Given the description of an element on the screen output the (x, y) to click on. 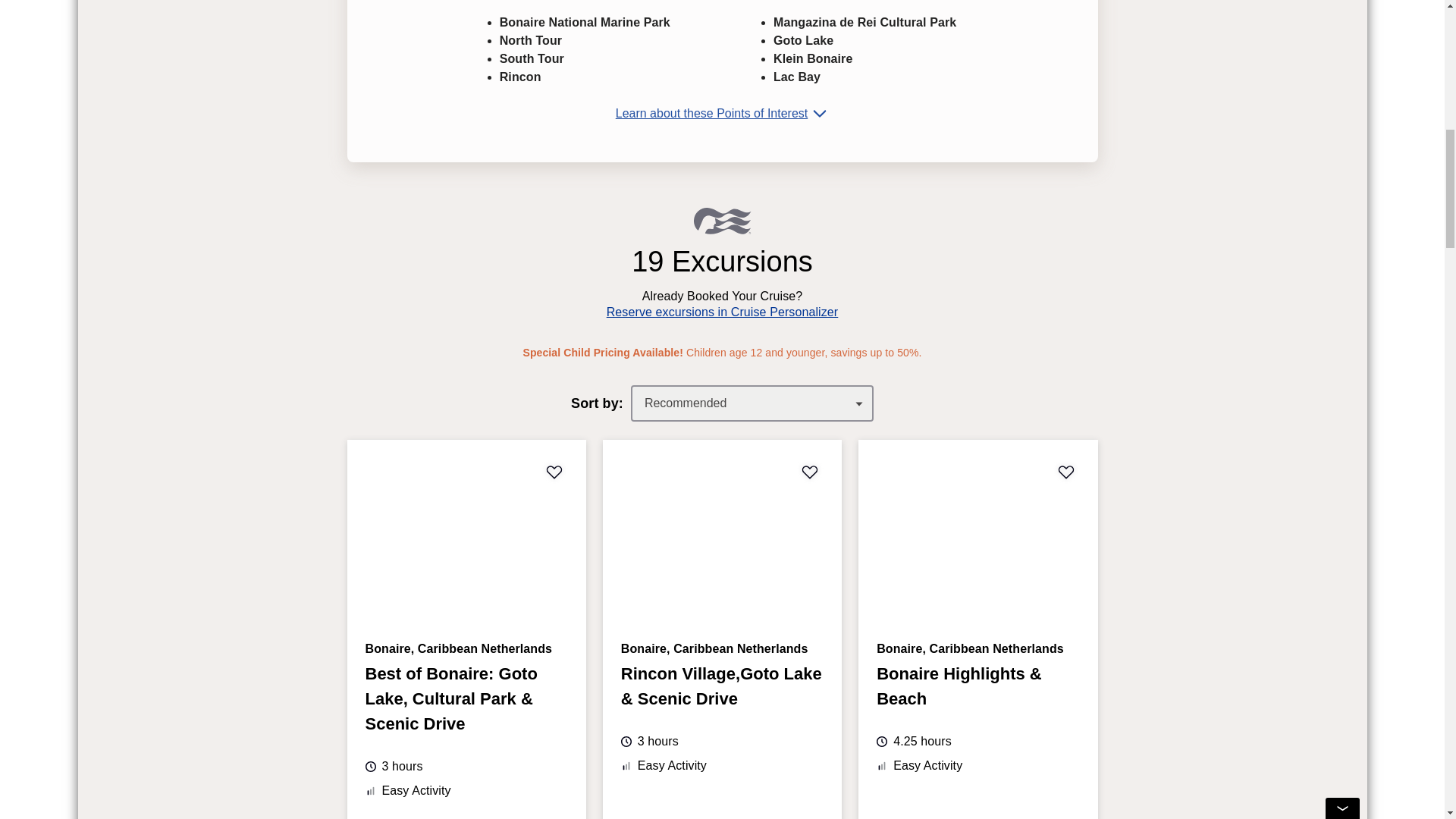
Learn about these Points of Interest (722, 113)
Reserve excursions in Cruise Personalizer (722, 312)
